Given the description of an element on the screen output the (x, y) to click on. 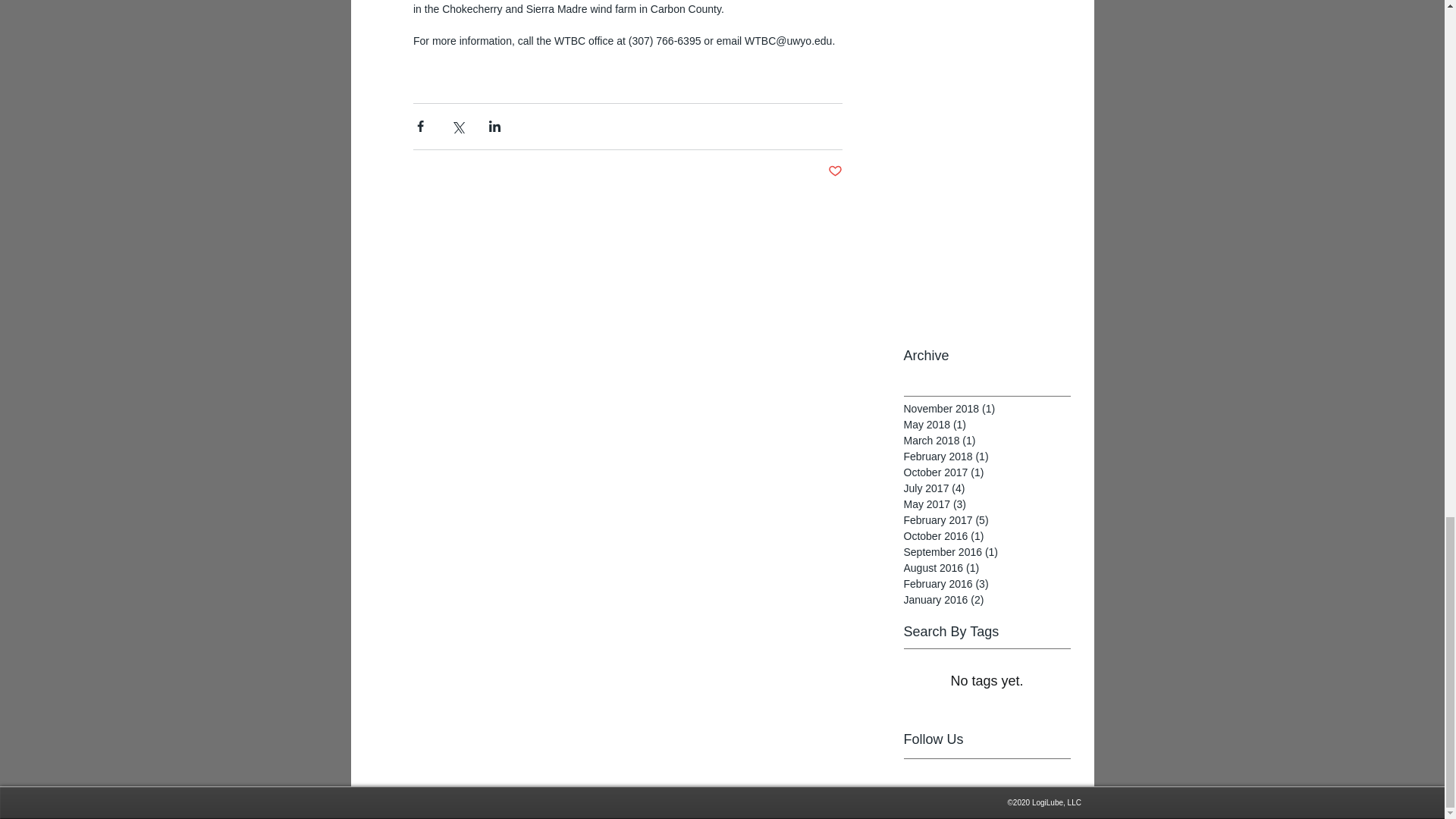
Post not marked as liked (835, 171)
